Given the description of an element on the screen output the (x, y) to click on. 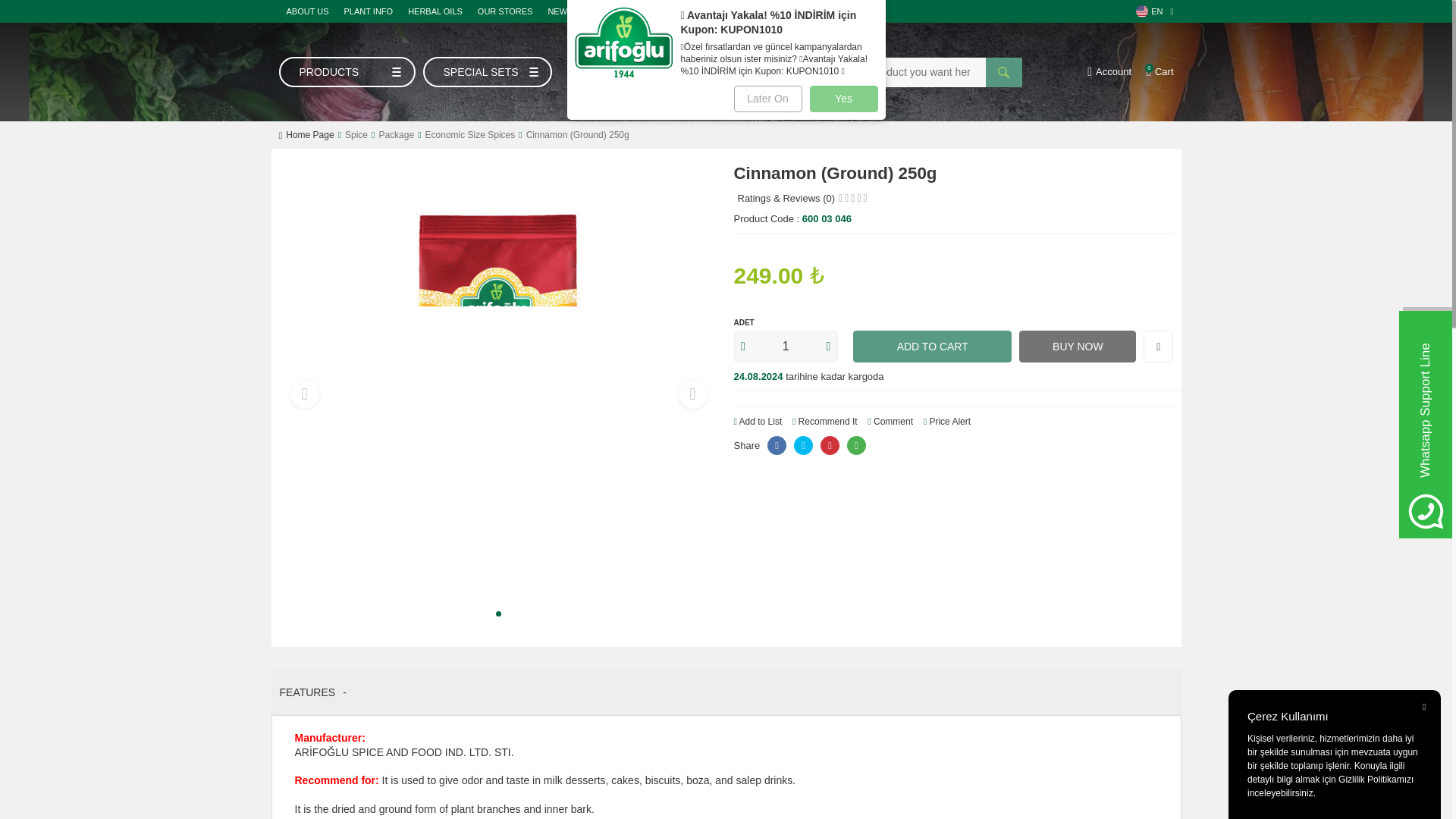
FRANCHISE (781, 11)
HERBAL OILS (435, 11)
OUR STORES (504, 11)
NEWS (559, 11)
FOOD RECEPIES (622, 11)
ABOUT US (307, 11)
CONTACT US (848, 11)
PRODUCTS (346, 71)
1 (785, 346)
PLANT INFO (368, 11)
